Given the description of an element on the screen output the (x, y) to click on. 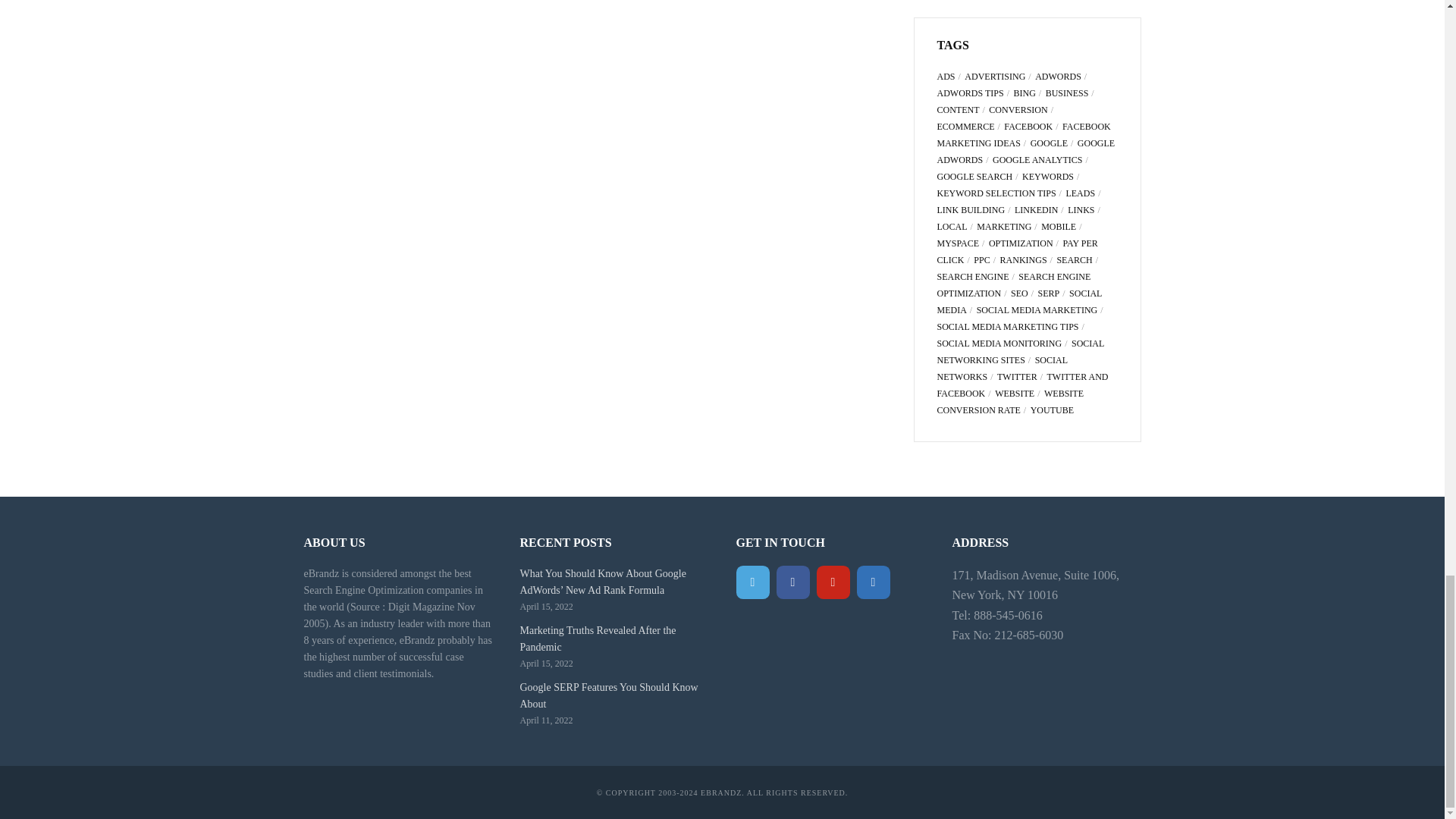
Pinterest (831, 581)
Facebook (792, 581)
Linkedin (873, 581)
Twitter (751, 581)
